Given the description of an element on the screen output the (x, y) to click on. 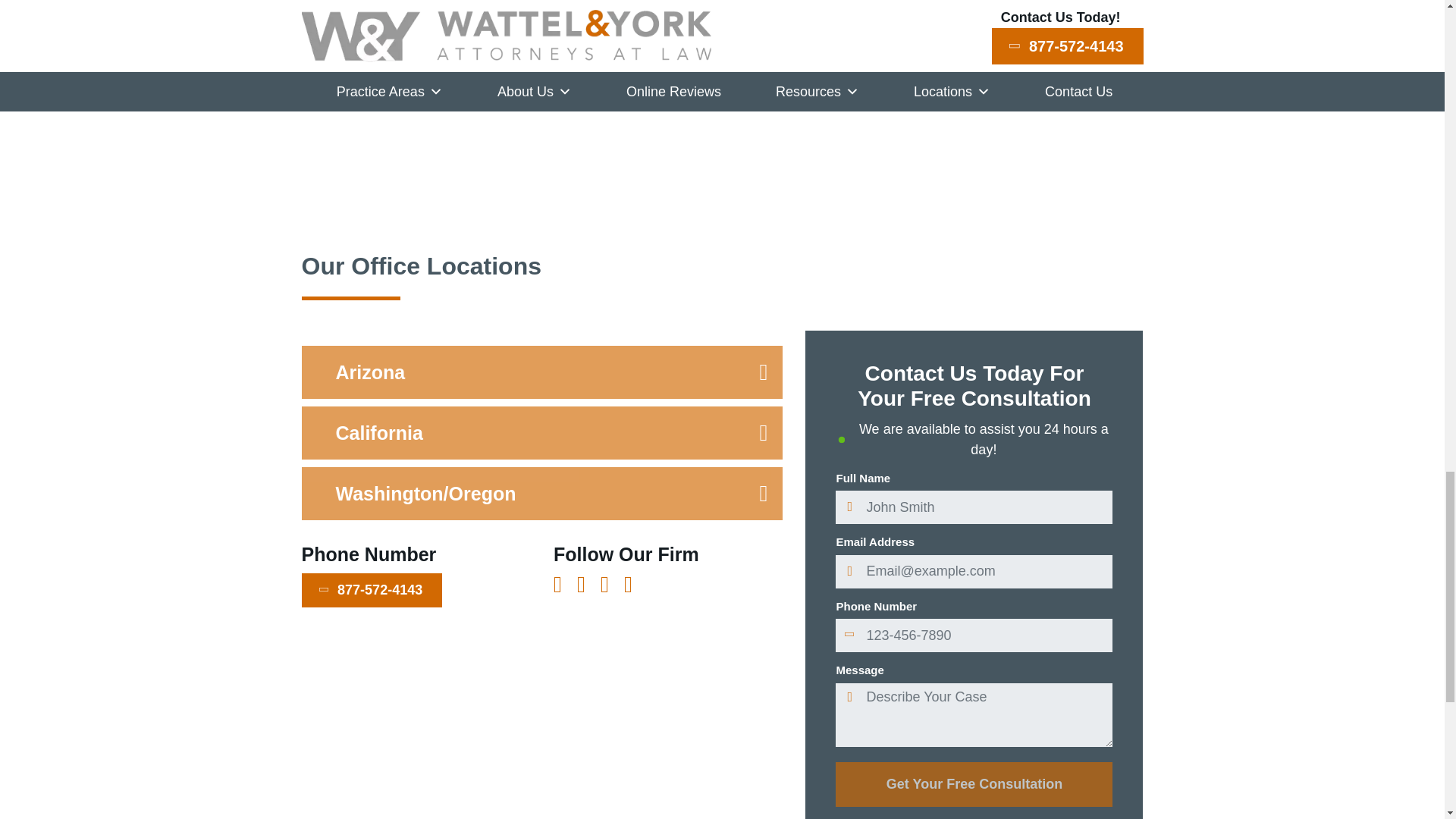
Call us! (371, 590)
